Given the description of an element on the screen output the (x, y) to click on. 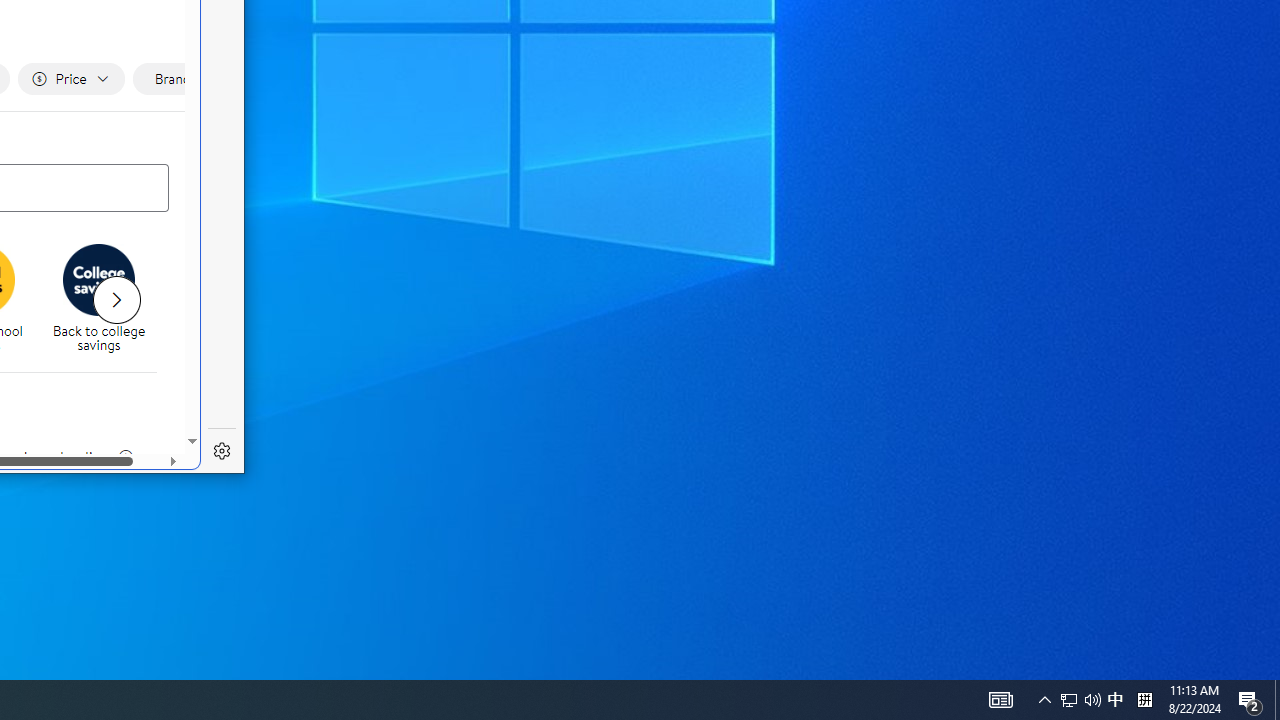
Notification Chevron (1044, 699)
AutomationID: 4105 (1000, 699)
Action Center, 2 new notifications (1250, 699)
